Given the description of an element on the screen output the (x, y) to click on. 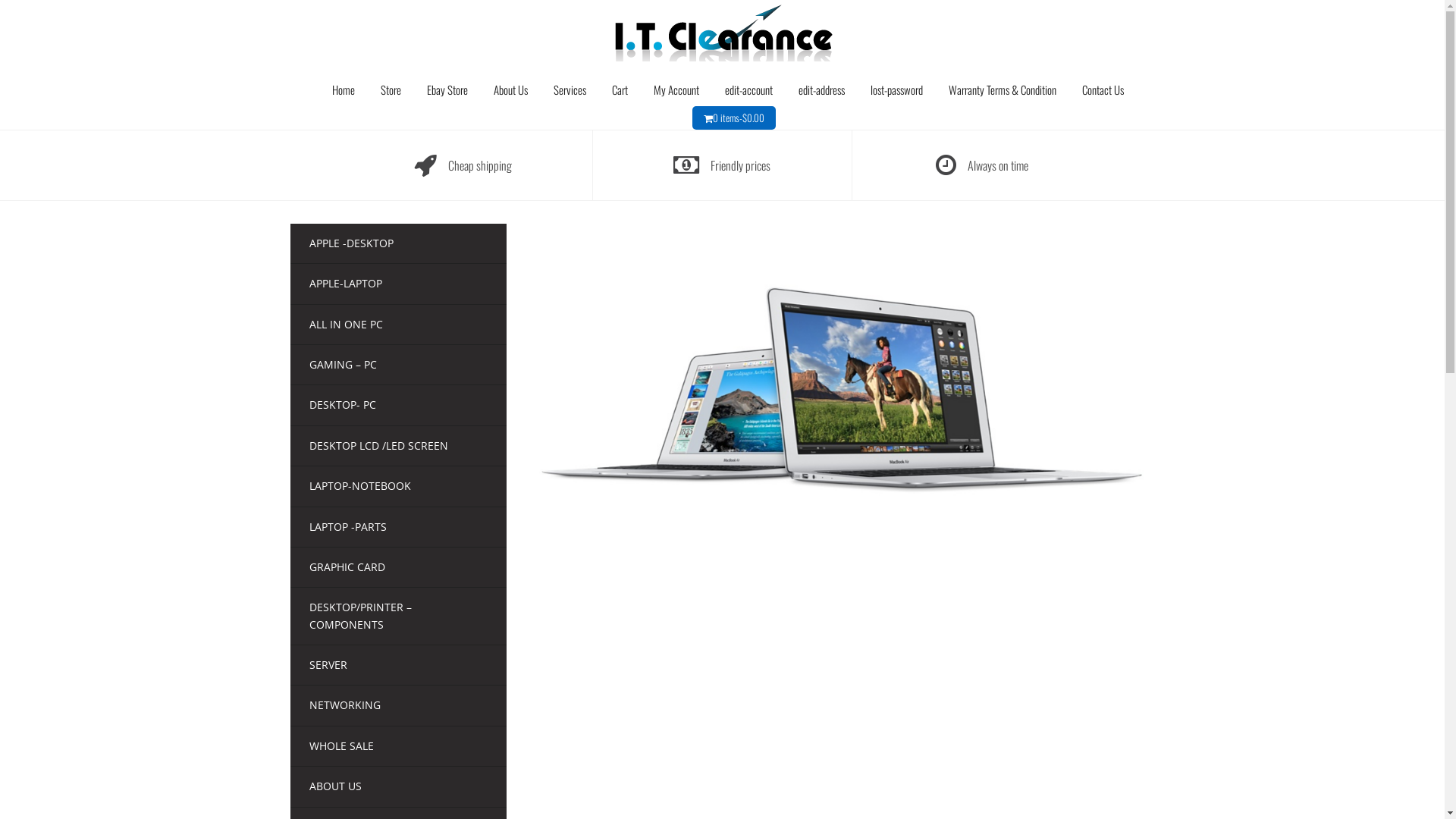
APPLE-LAPTOP Element type: text (345, 283)
IT CLEARANCE Element type: hover (721, 28)
My Account Element type: text (676, 89)
GRAPHIC CARD Element type: text (347, 566)
Warranty Terms & Condition Element type: text (1002, 89)
Cart Element type: text (619, 89)
WHOLE SALE Element type: text (341, 745)
NETWORKING Element type: text (344, 704)
SERVER Element type: text (328, 664)
DESKTOP- PC Element type: text (342, 404)
LAPTOP-NOTEBOOK Element type: text (360, 485)
ABOUT US Element type: text (335, 785)
edit-address Element type: text (821, 89)
About Us Element type: text (510, 89)
Store Element type: text (390, 89)
ALL IN ONE PC Element type: text (345, 323)
Home Element type: text (343, 89)
Services Element type: text (569, 89)
Ebay Store Element type: text (446, 89)
0 items-$0.00 Element type: text (738, 117)
DESKTOP LCD /LED SCREEN Element type: text (378, 445)
lost-password Element type: text (896, 89)
LAPTOP -PARTS Element type: text (347, 526)
Contact Us Element type: text (1102, 89)
APPLE -DESKTOP Element type: text (351, 242)
edit-account Element type: text (748, 89)
